Given the description of an element on the screen output the (x, y) to click on. 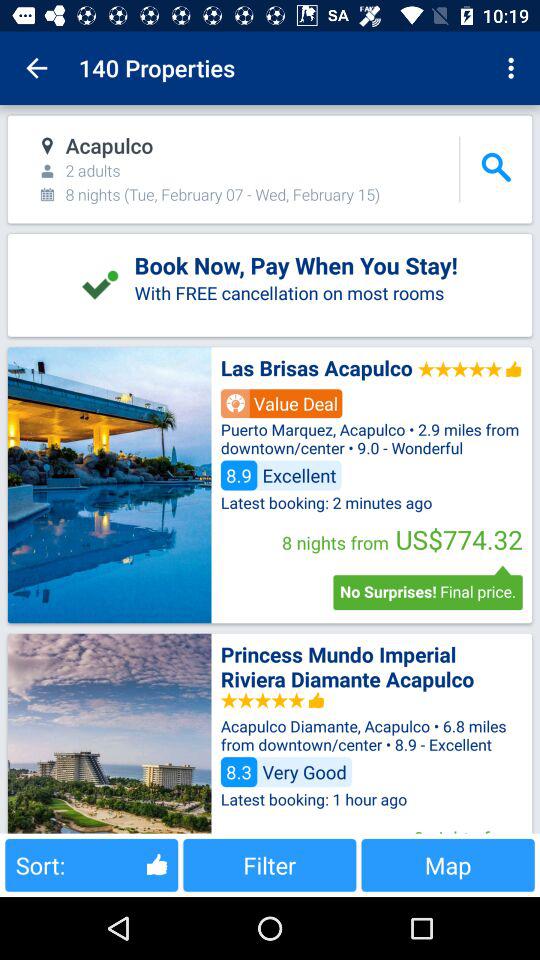
select hotel (109, 485)
